Given the description of an element on the screen output the (x, y) to click on. 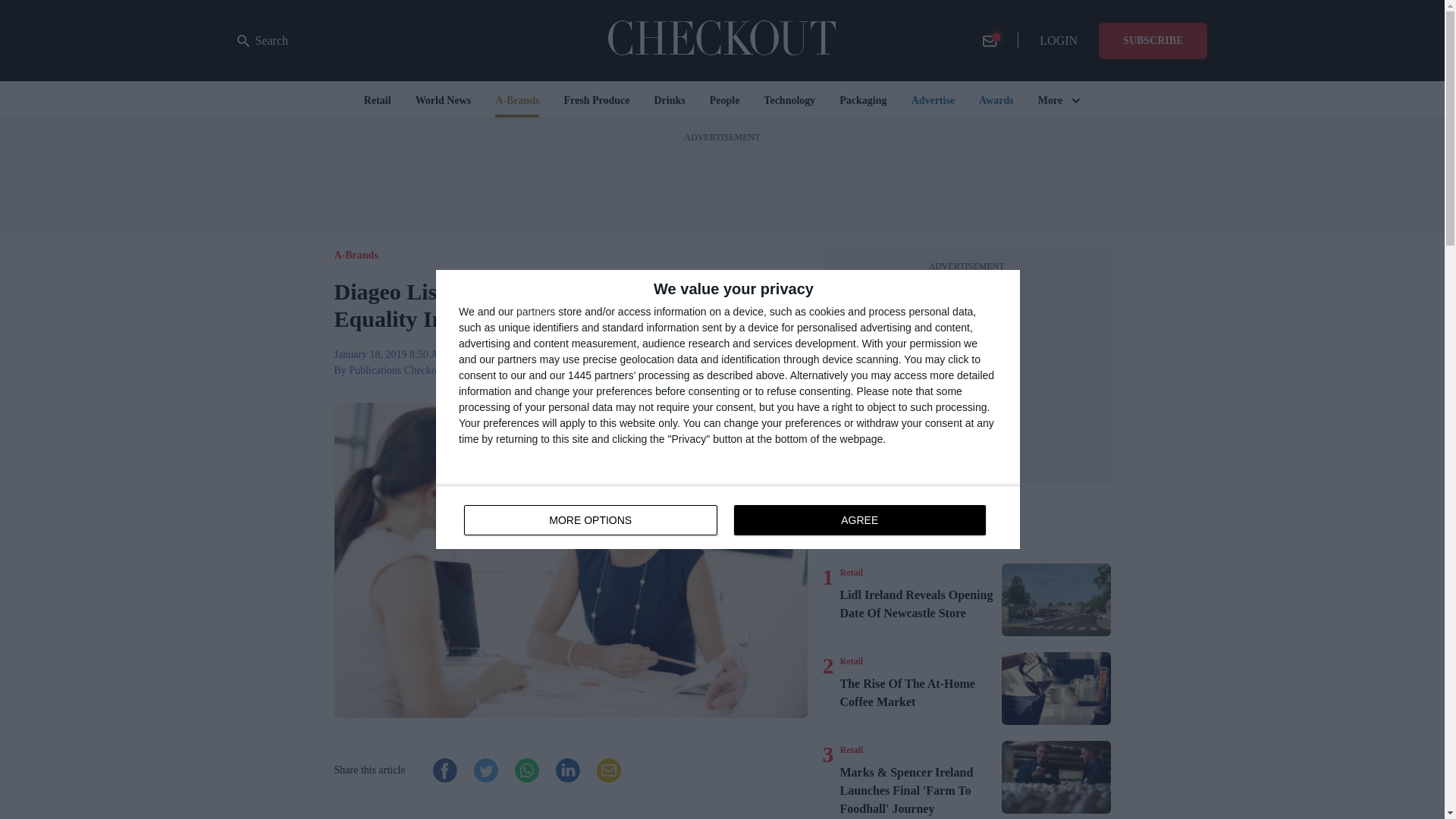
Lidl Ireland Reveals Opening Date Of Newcastle Store (1055, 599)
The Rise Of The At-Home Coffee Market (1055, 687)
Search (261, 40)
Retail (851, 572)
The Rise Of The At-Home Coffee Market (727, 516)
Lidl Ireland Reveals Opening Date Of Newcastle Store (917, 692)
Retail (917, 604)
